Given the description of an element on the screen output the (x, y) to click on. 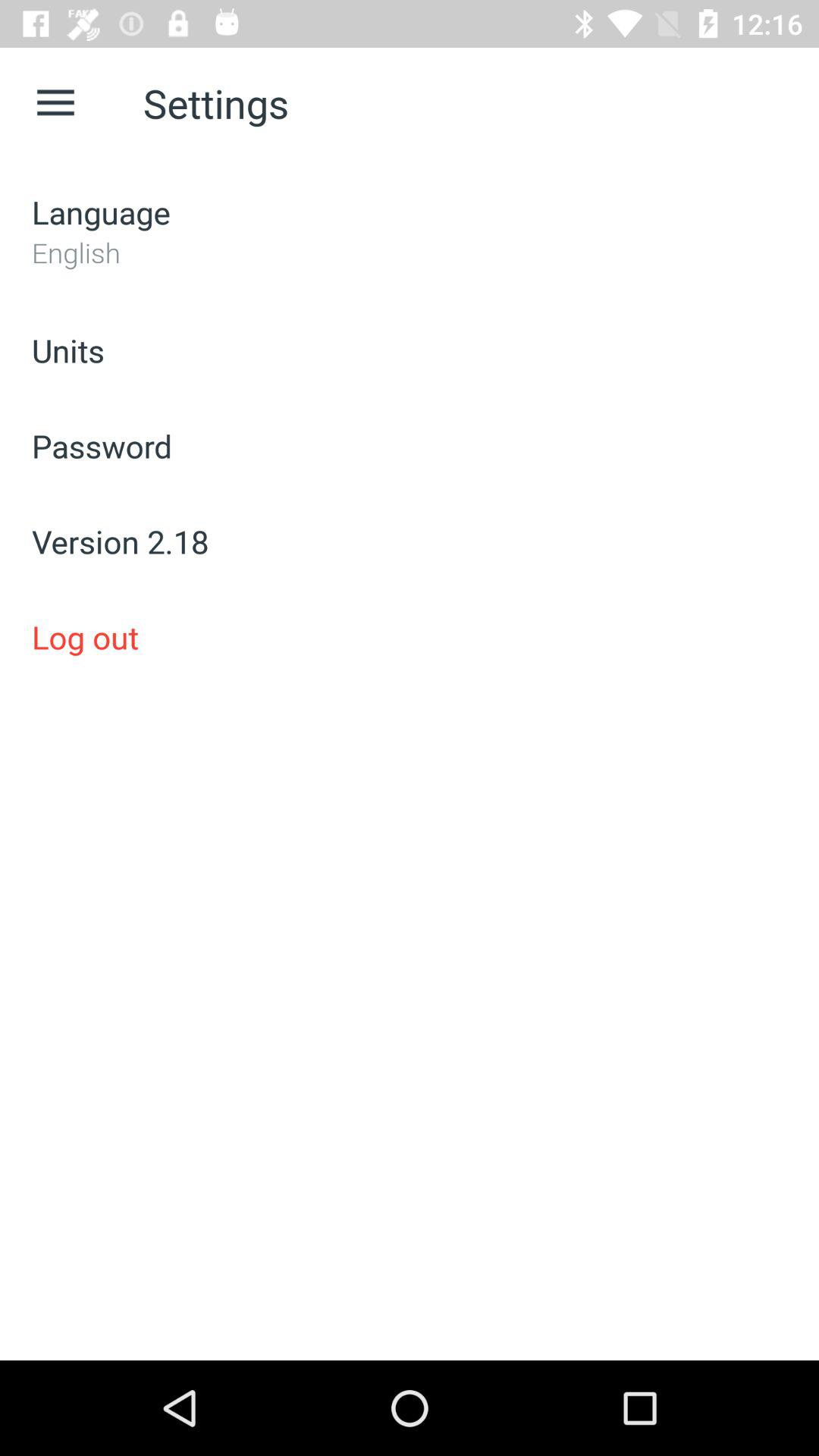
select log out (409, 636)
